Given the description of an element on the screen output the (x, y) to click on. 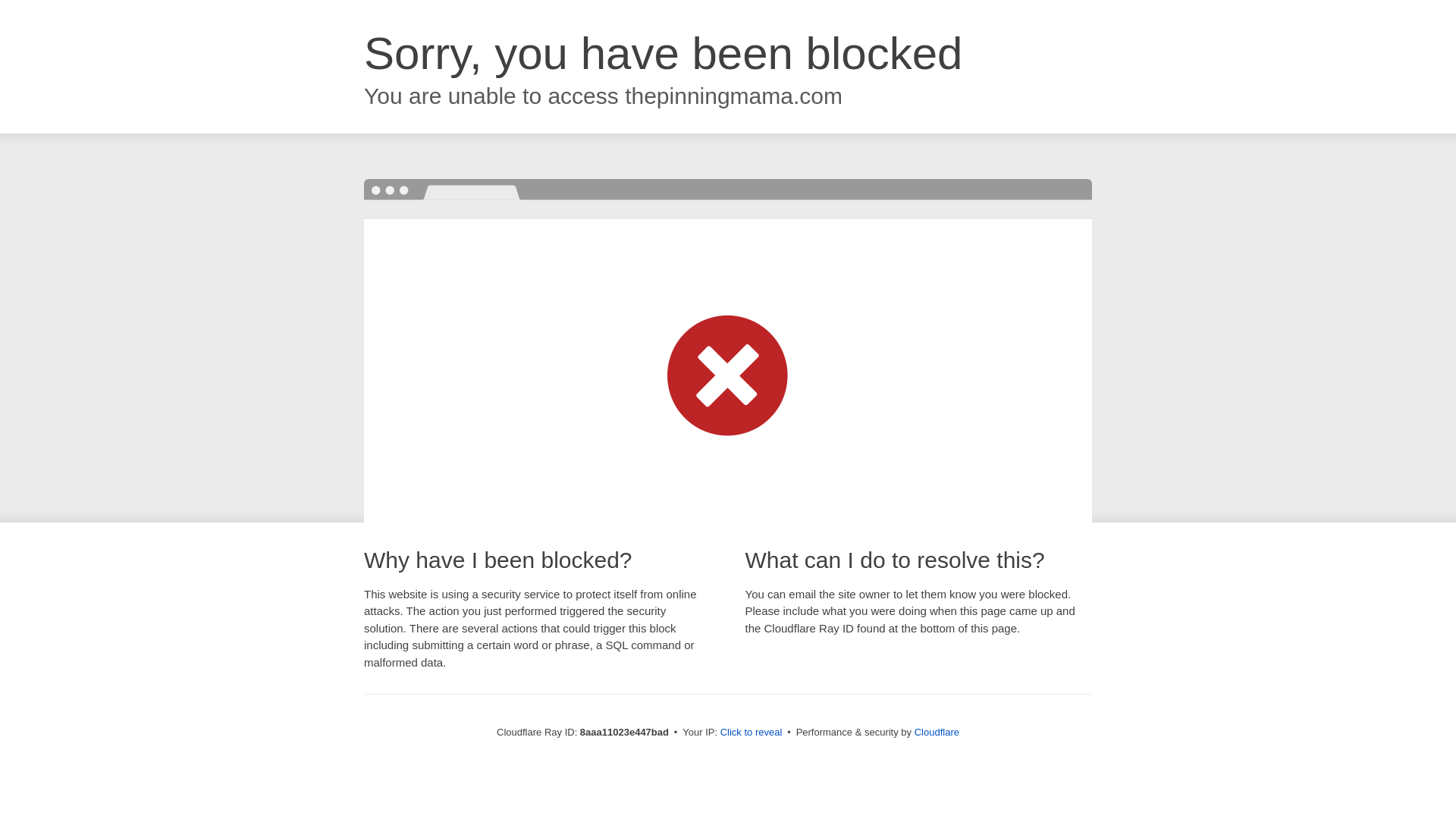
Click to reveal (751, 732)
Cloudflare (936, 731)
